Given the description of an element on the screen output the (x, y) to click on. 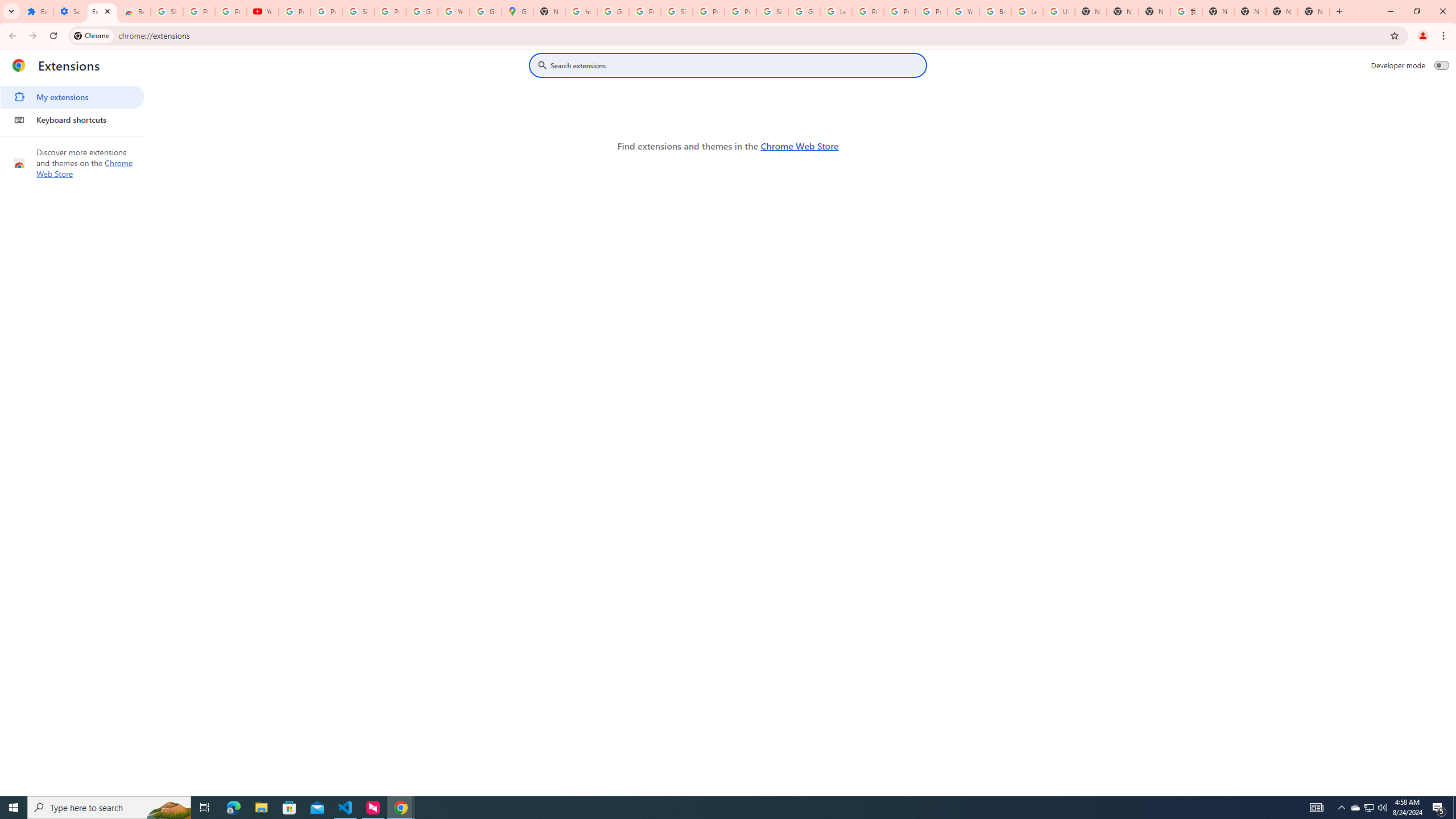
Sign in - Google Accounts (772, 11)
Sign in - Google Accounts (166, 11)
YouTube (262, 11)
Keyboard shortcuts (72, 119)
YouTube (963, 11)
